Given the description of an element on the screen output the (x, y) to click on. 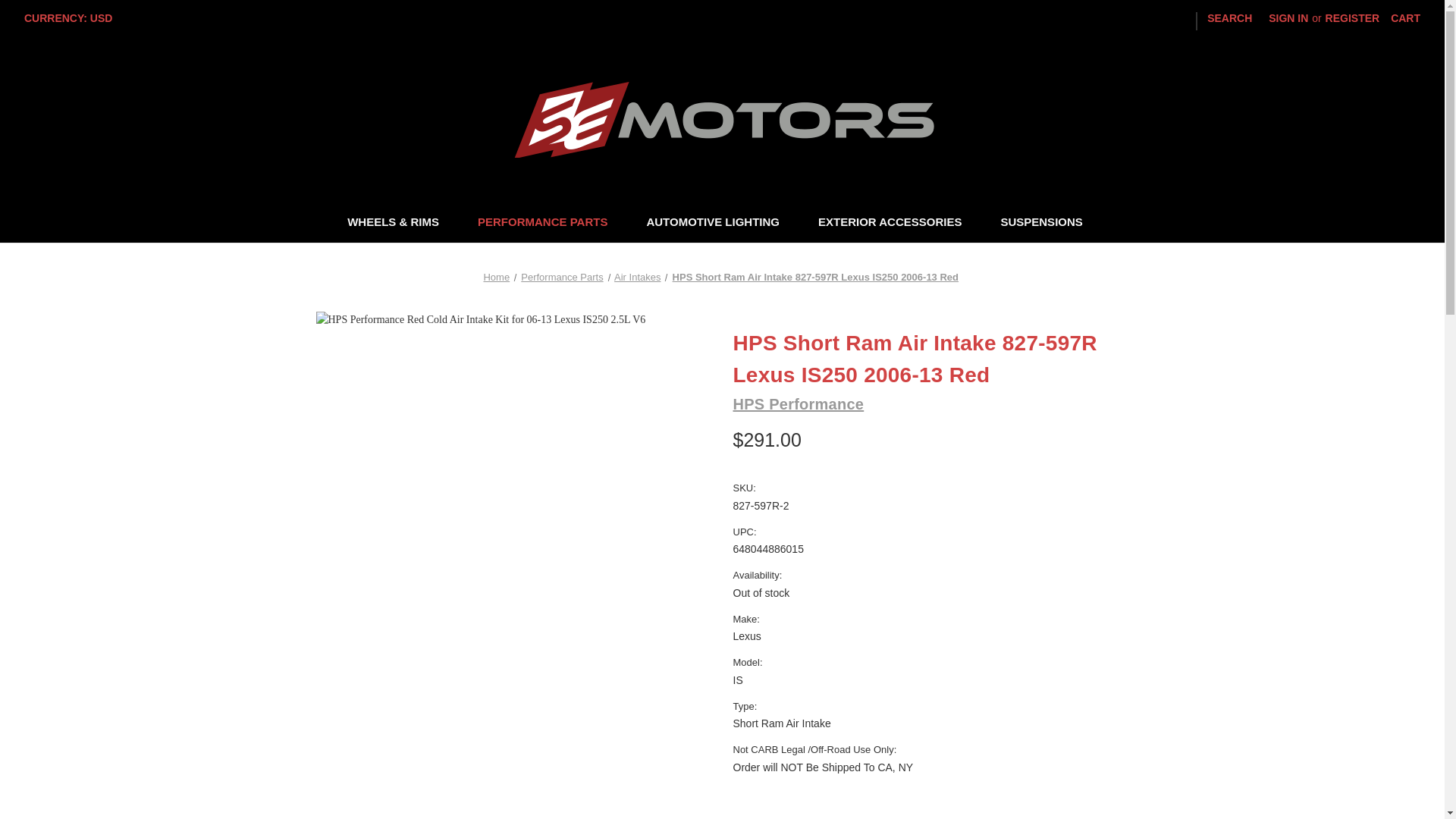
CURRENCY: USD (74, 18)
AUTOMOTIVE LIGHTING (719, 223)
CART (1404, 18)
Youtube (1126, 20)
SUSPENSIONS (1048, 223)
SIGN IN (1288, 18)
Instagram (1181, 20)
EXTERIOR ACCESSORIES (897, 223)
Speed Element Motorsports (722, 119)
SEARCH (1229, 18)
REGISTER (1353, 18)
Facebook (1153, 20)
PERFORMANCE PARTS (549, 223)
